Given the description of an element on the screen output the (x, y) to click on. 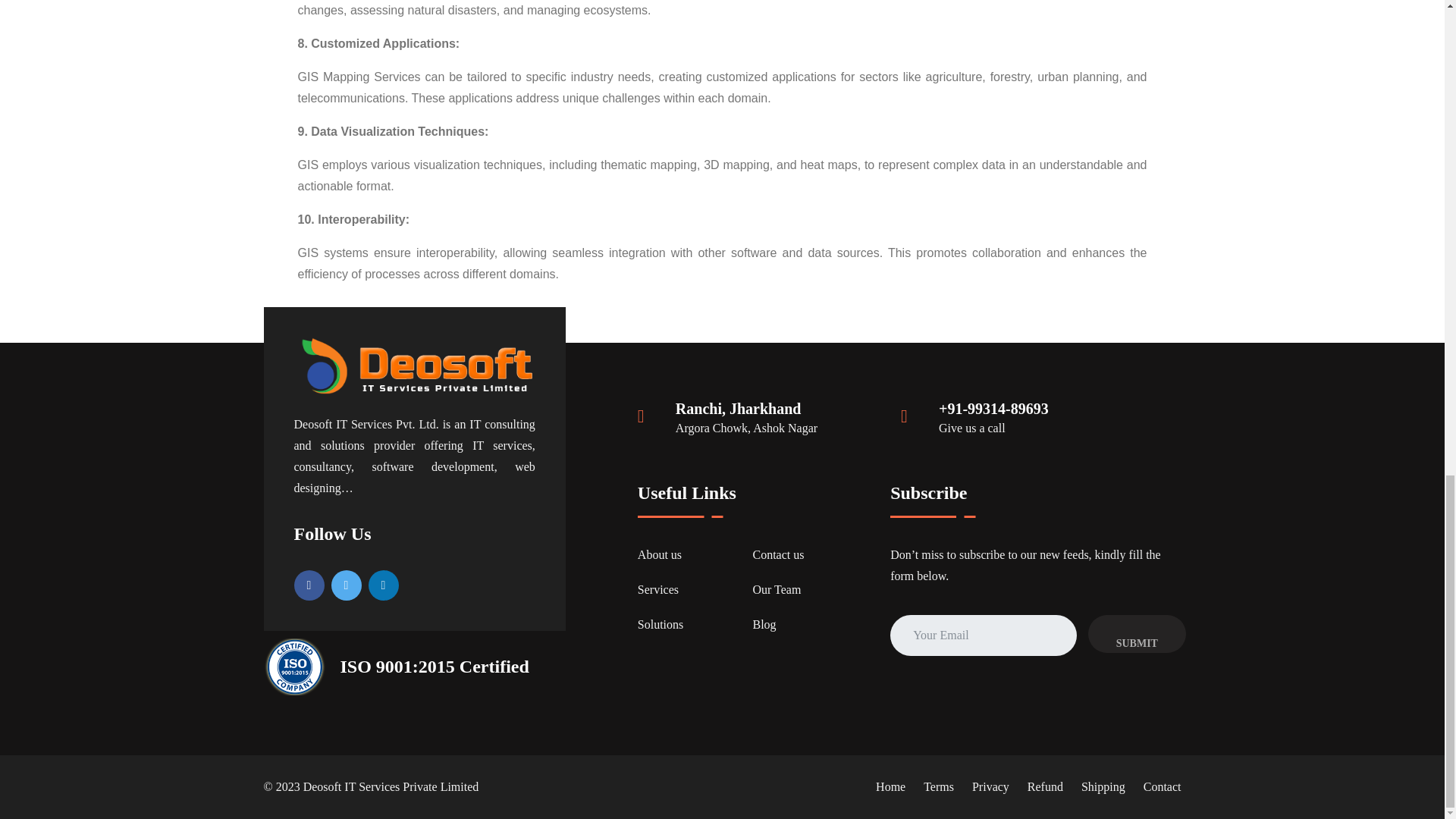
deosoft-software-development-it-company-ranchi (414, 365)
iso (293, 666)
Submit (1136, 633)
